Given the description of an element on the screen output the (x, y) to click on. 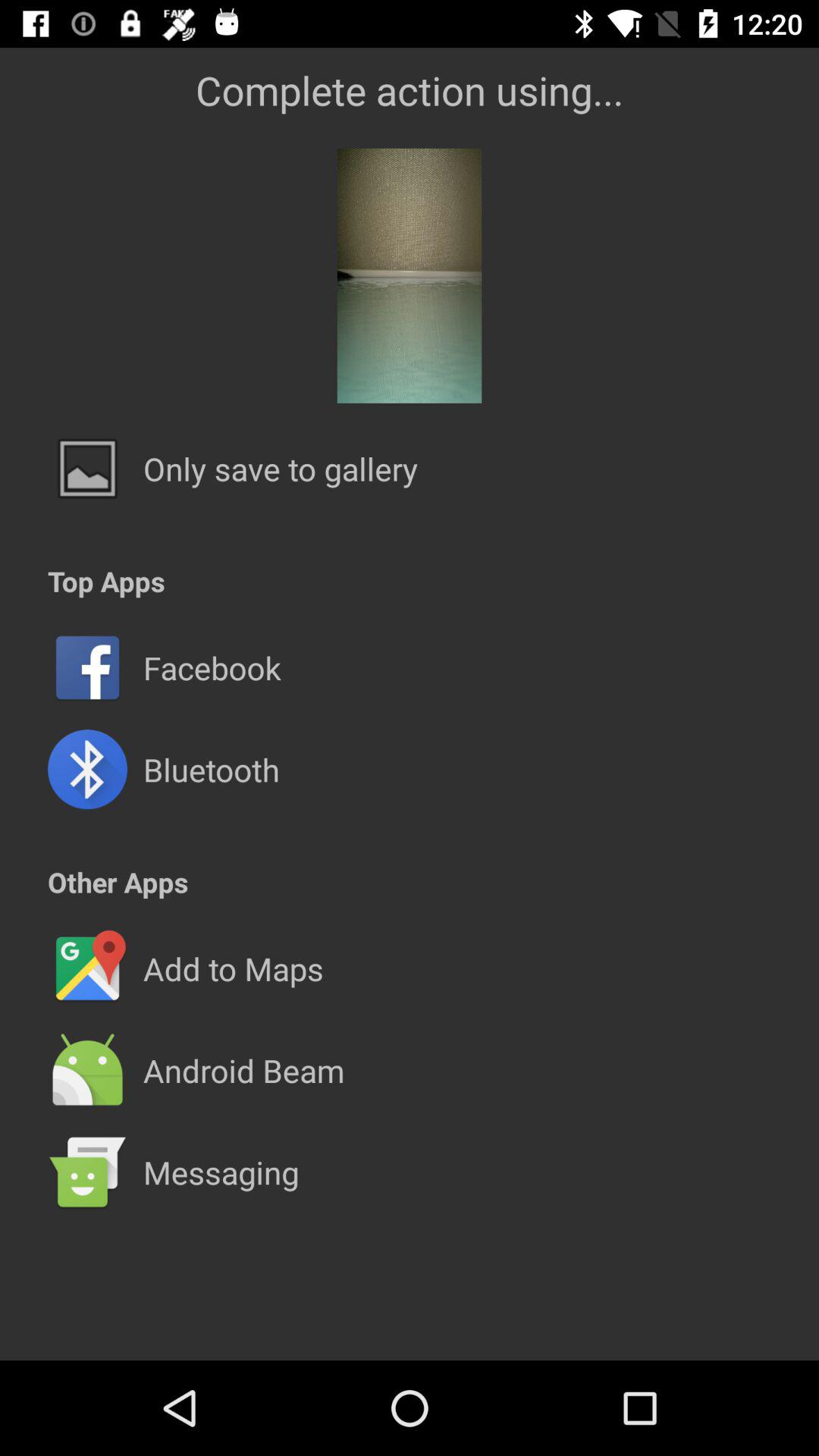
swipe to only save to (280, 468)
